Given the description of an element on the screen output the (x, y) to click on. 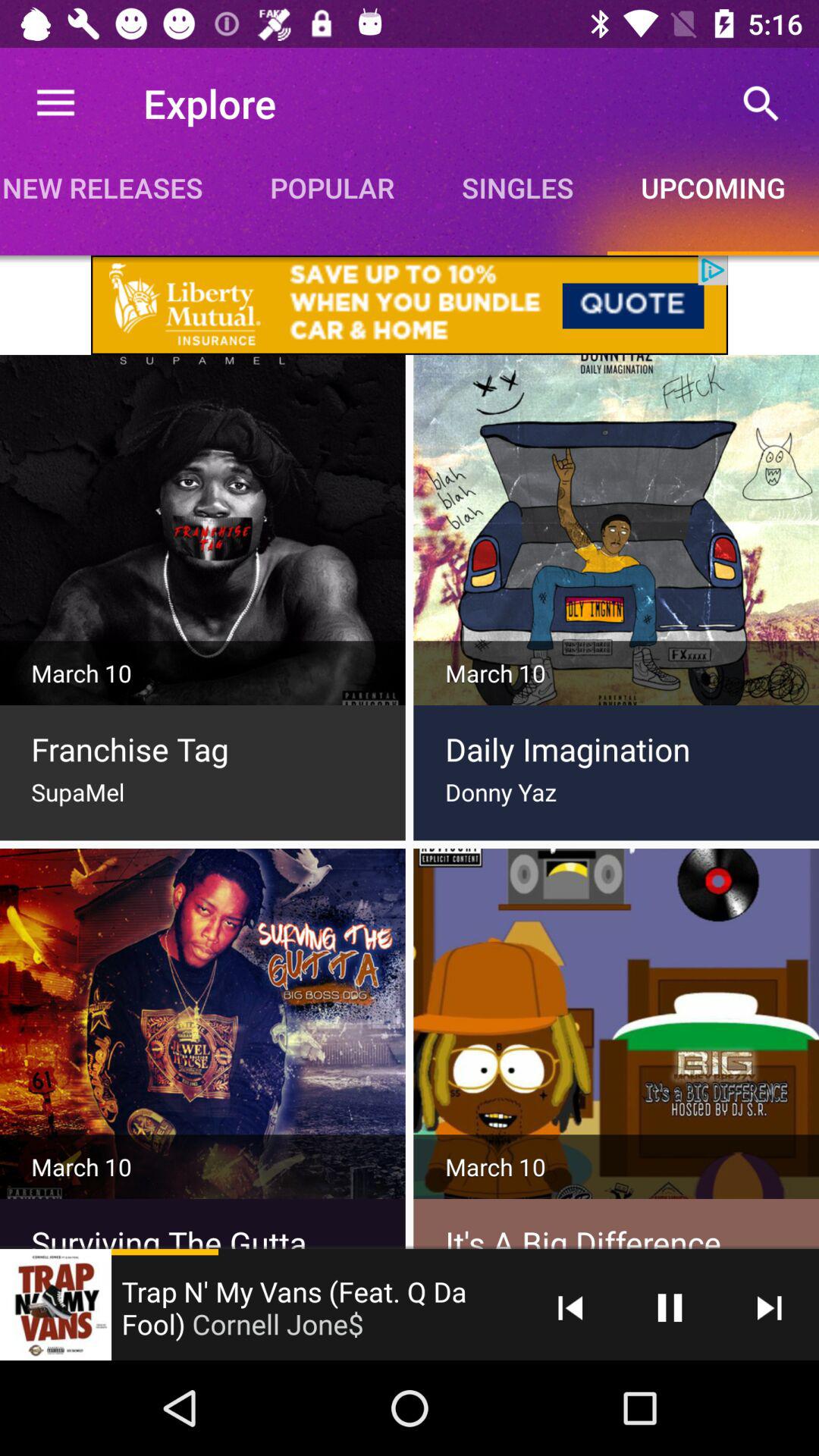
click app next to the singles (760, 103)
